Given the description of an element on the screen output the (x, y) to click on. 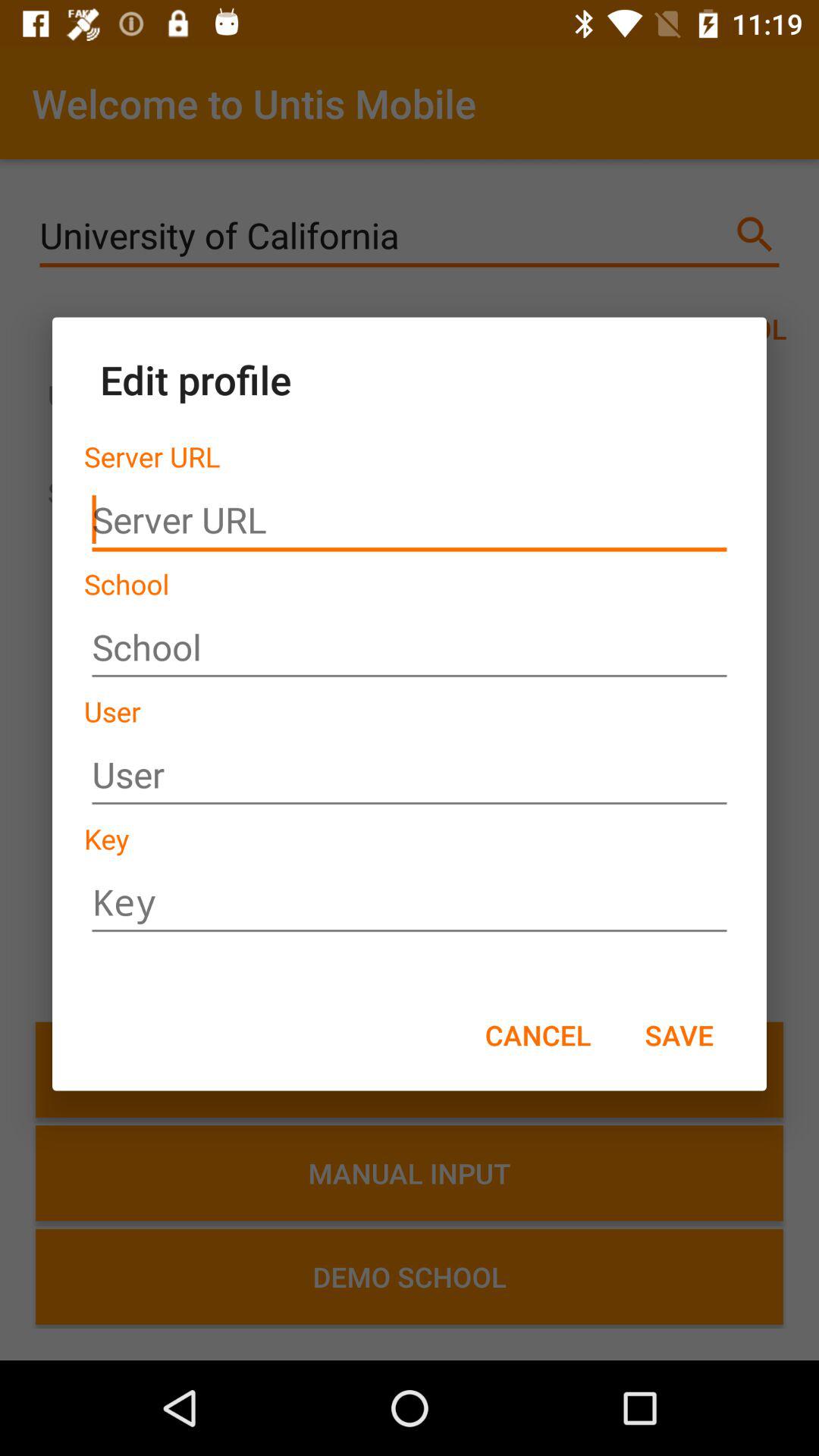
insert url (409, 520)
